Given the description of an element on the screen output the (x, y) to click on. 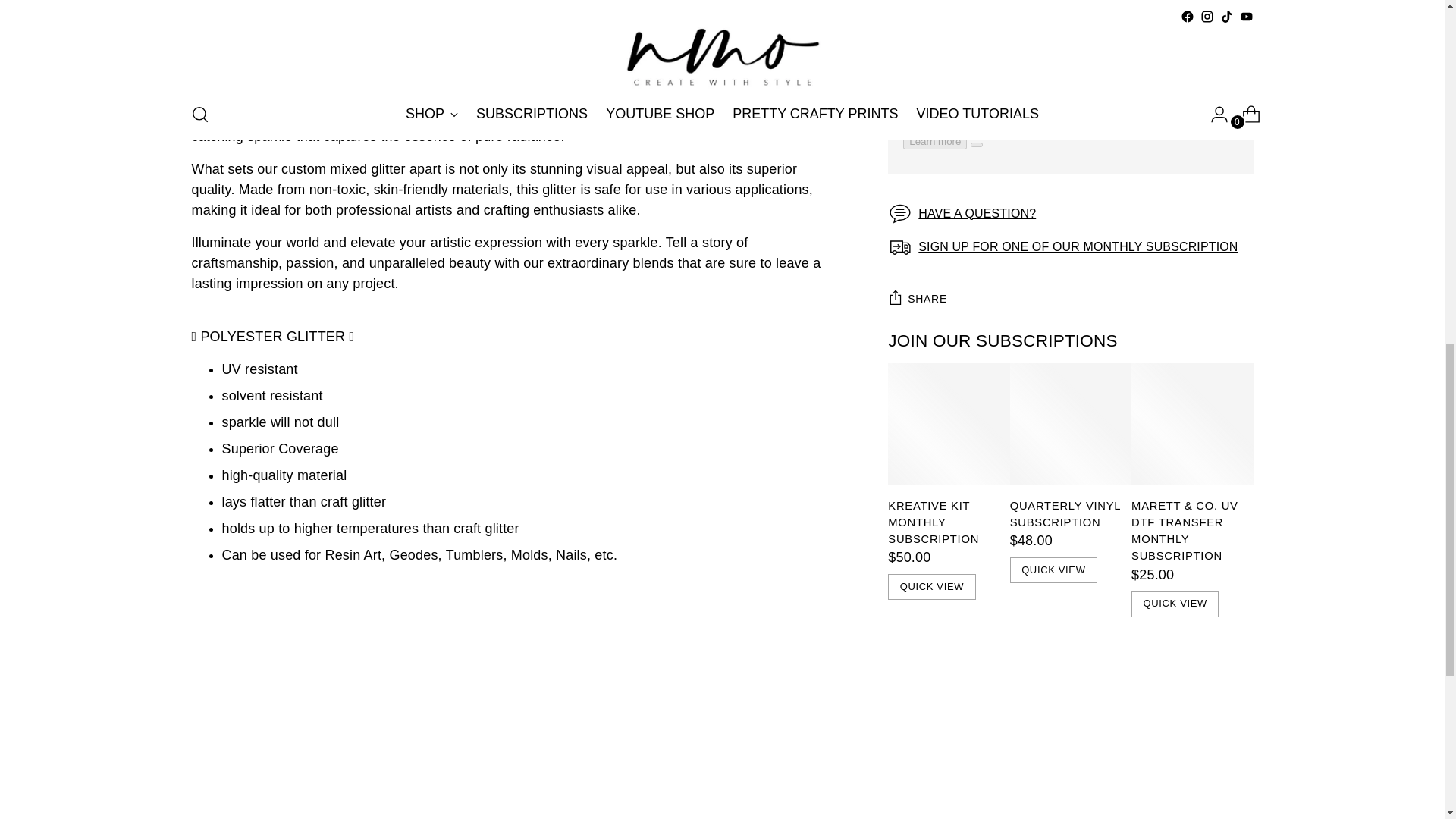
KREATIVE KIT SUBSCRIPTION (1077, 42)
CONTACT US (976, 8)
